Given the description of an element on the screen output the (x, y) to click on. 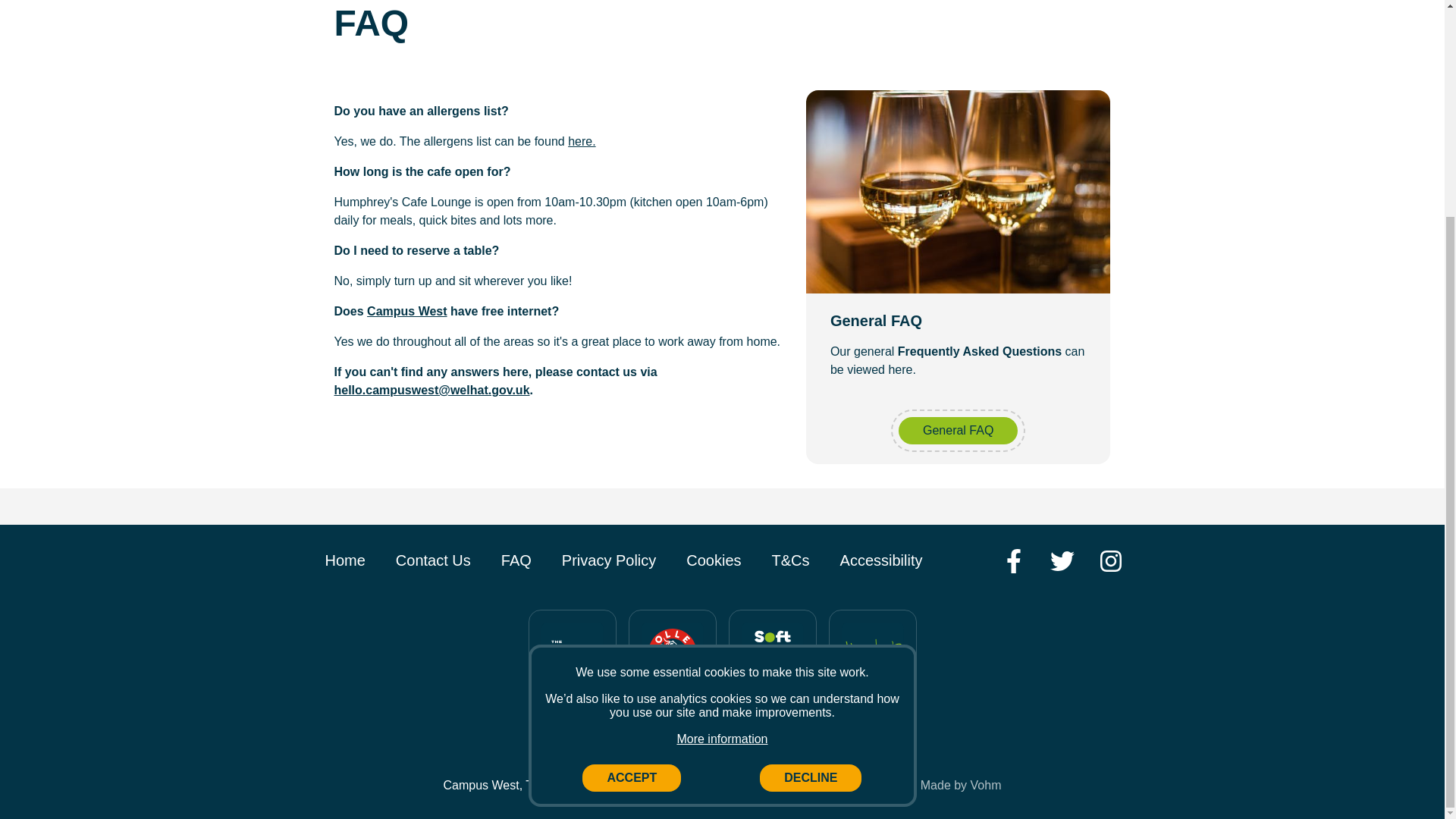
Facebook (1013, 560)
Roller City (671, 653)
The Cinema (571, 653)
More information (722, 453)
DECLINE (810, 492)
Twitter (1061, 560)
Soft Play City (771, 653)
ACCEPT (631, 492)
Instagram (1109, 560)
